Given the description of an element on the screen output the (x, y) to click on. 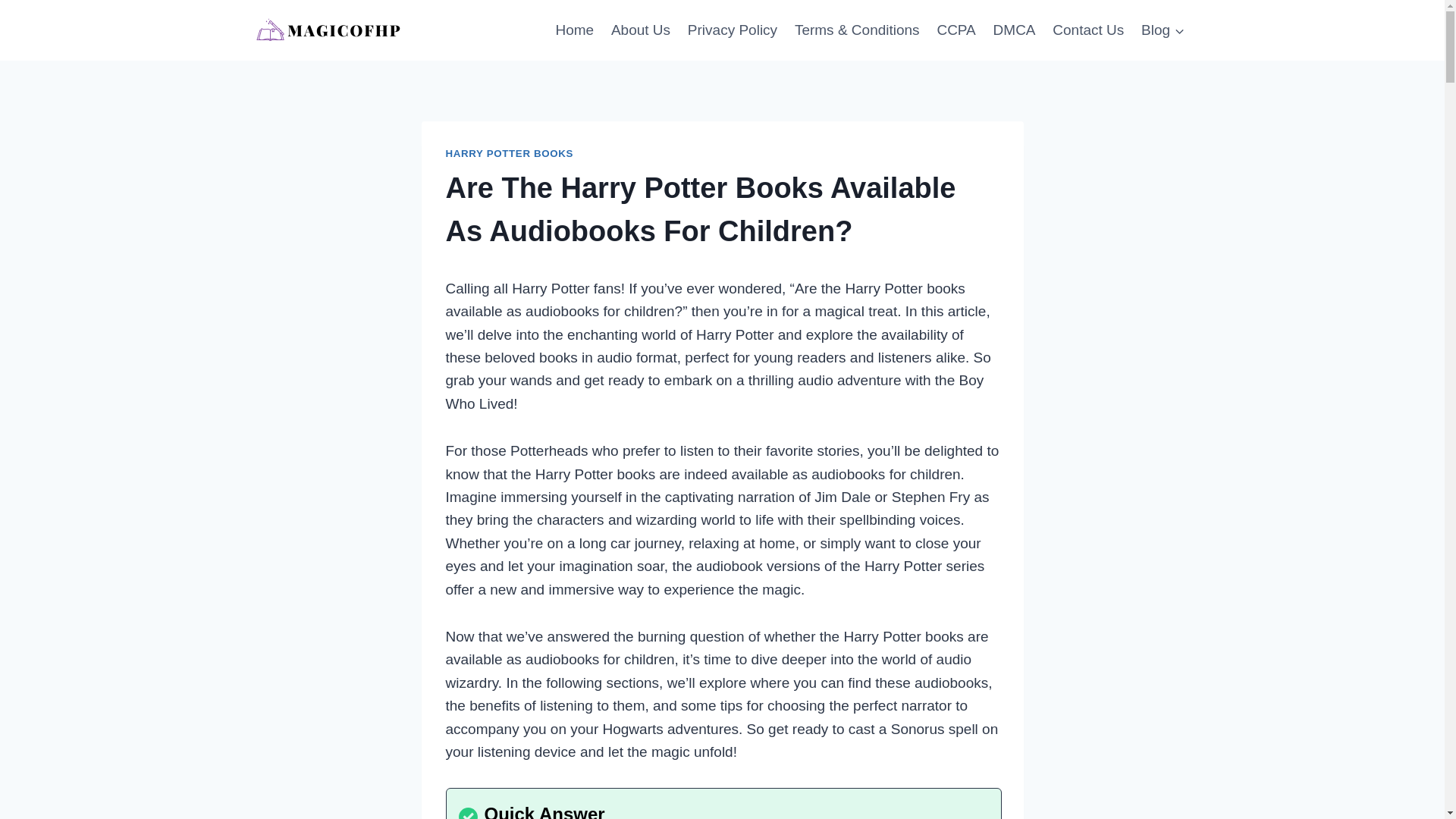
Privacy Policy (732, 29)
Contact Us (1087, 29)
Blog (1162, 29)
CCPA (956, 29)
Home (574, 29)
About Us (640, 29)
HARRY POTTER BOOKS (509, 153)
DMCA (1013, 29)
